Given the description of an element on the screen output the (x, y) to click on. 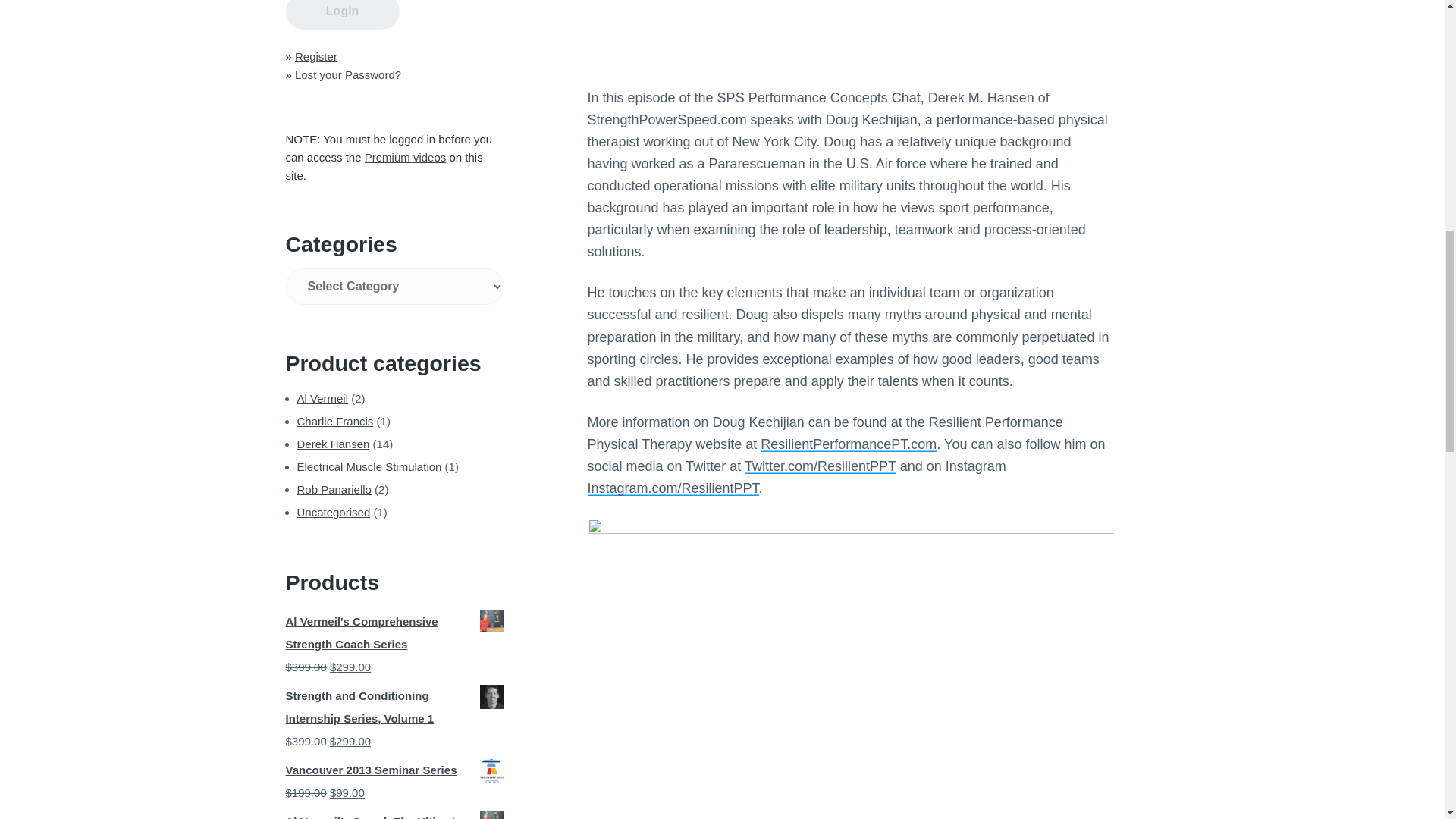
ResilientPerformancePT.com (848, 444)
Login (341, 14)
